Given the description of an element on the screen output the (x, y) to click on. 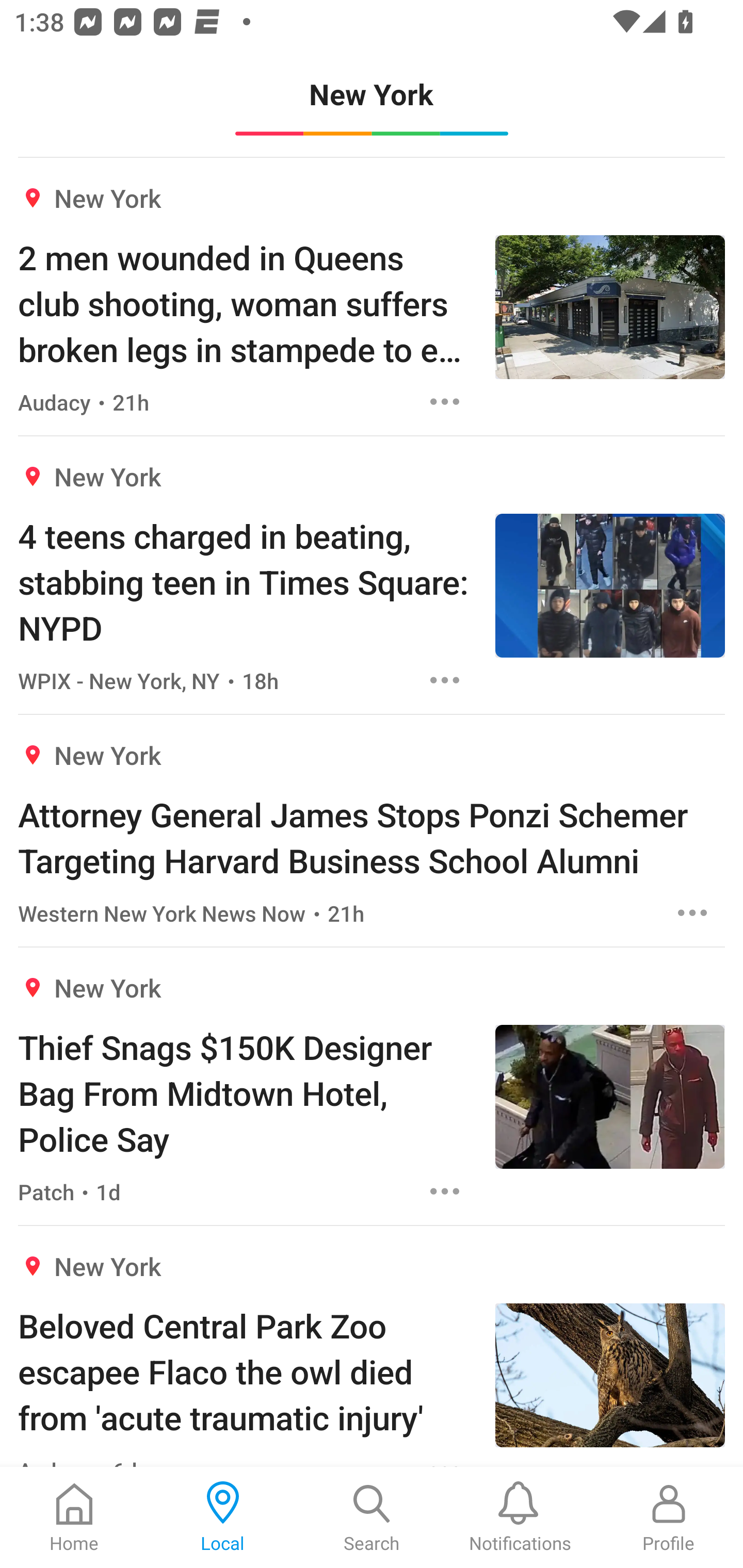
Options (444, 401)
Options (444, 680)
Options (692, 912)
Options (444, 1191)
Home (74, 1517)
Search (371, 1517)
Notifications (519, 1517)
Profile (668, 1517)
